Given the description of an element on the screen output the (x, y) to click on. 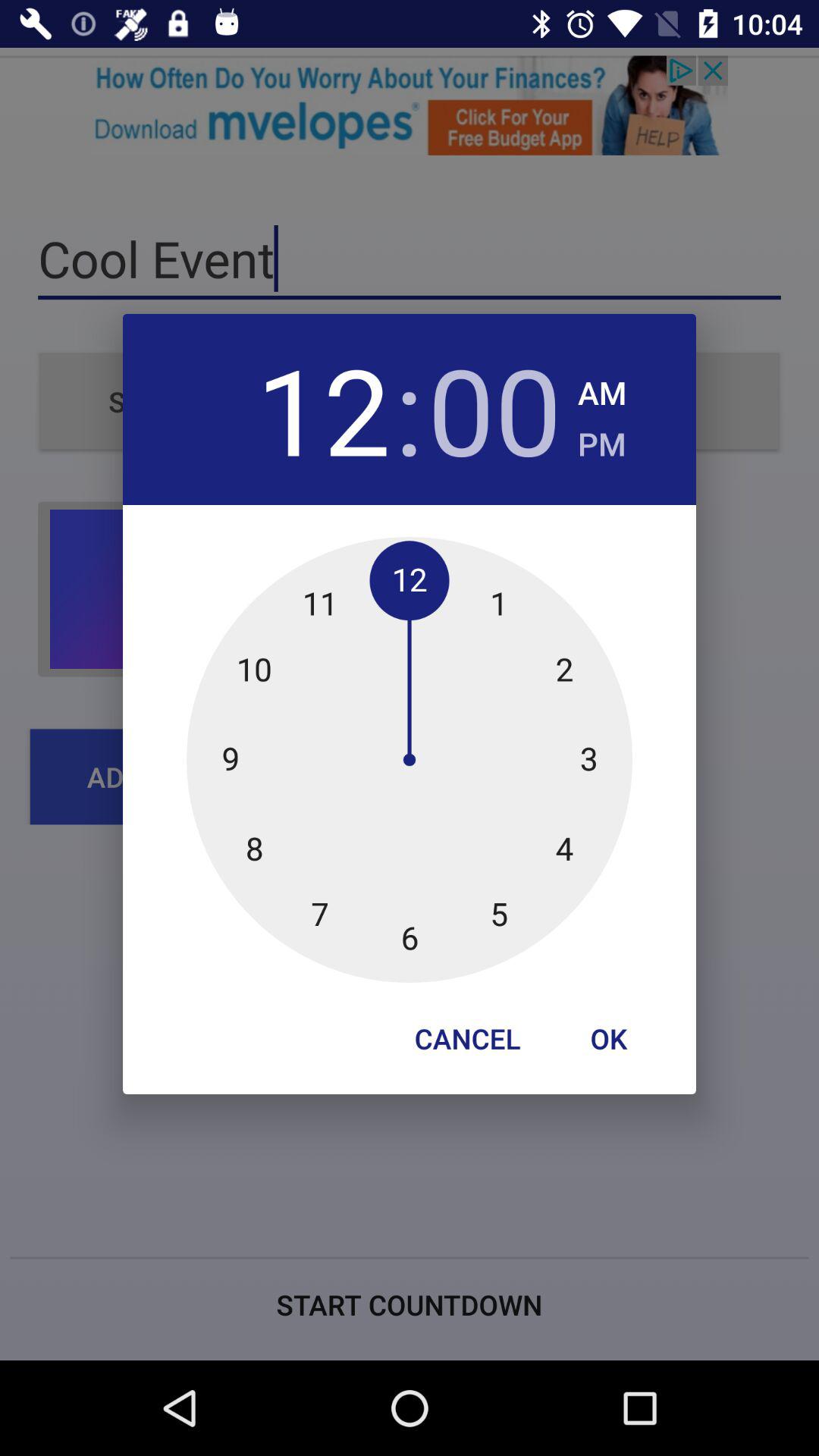
turn off the icon next to the 00 (601, 439)
